Given the description of an element on the screen output the (x, y) to click on. 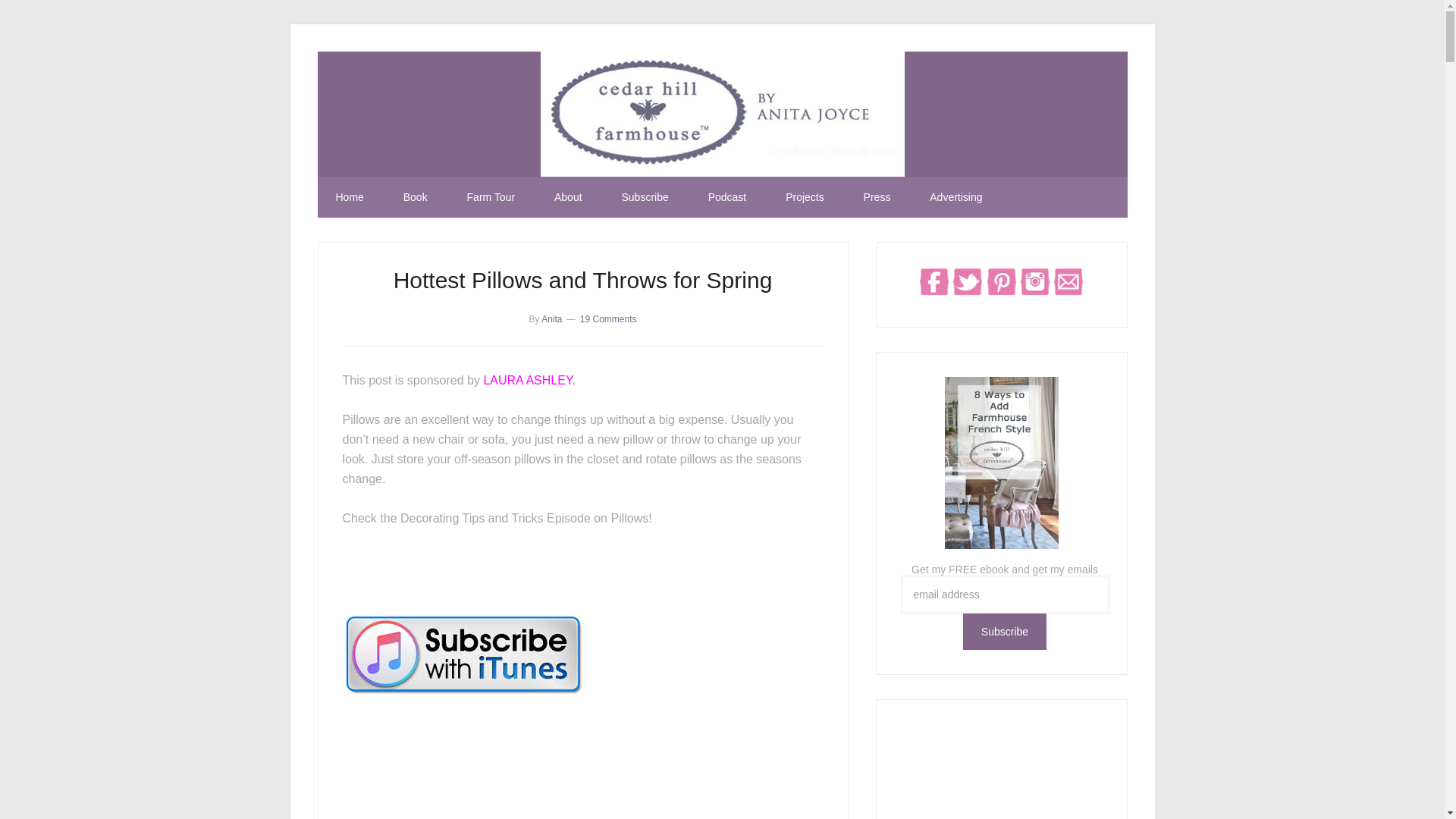
About (567, 196)
Subscribe (643, 196)
Book (415, 196)
Home (349, 196)
Cedar Hill Farmhouse (721, 113)
LAURA ASHLEY. (529, 379)
Advertising (955, 196)
Press (876, 196)
Subscribe (1004, 631)
Anita (551, 318)
